Given the description of an element on the screen output the (x, y) to click on. 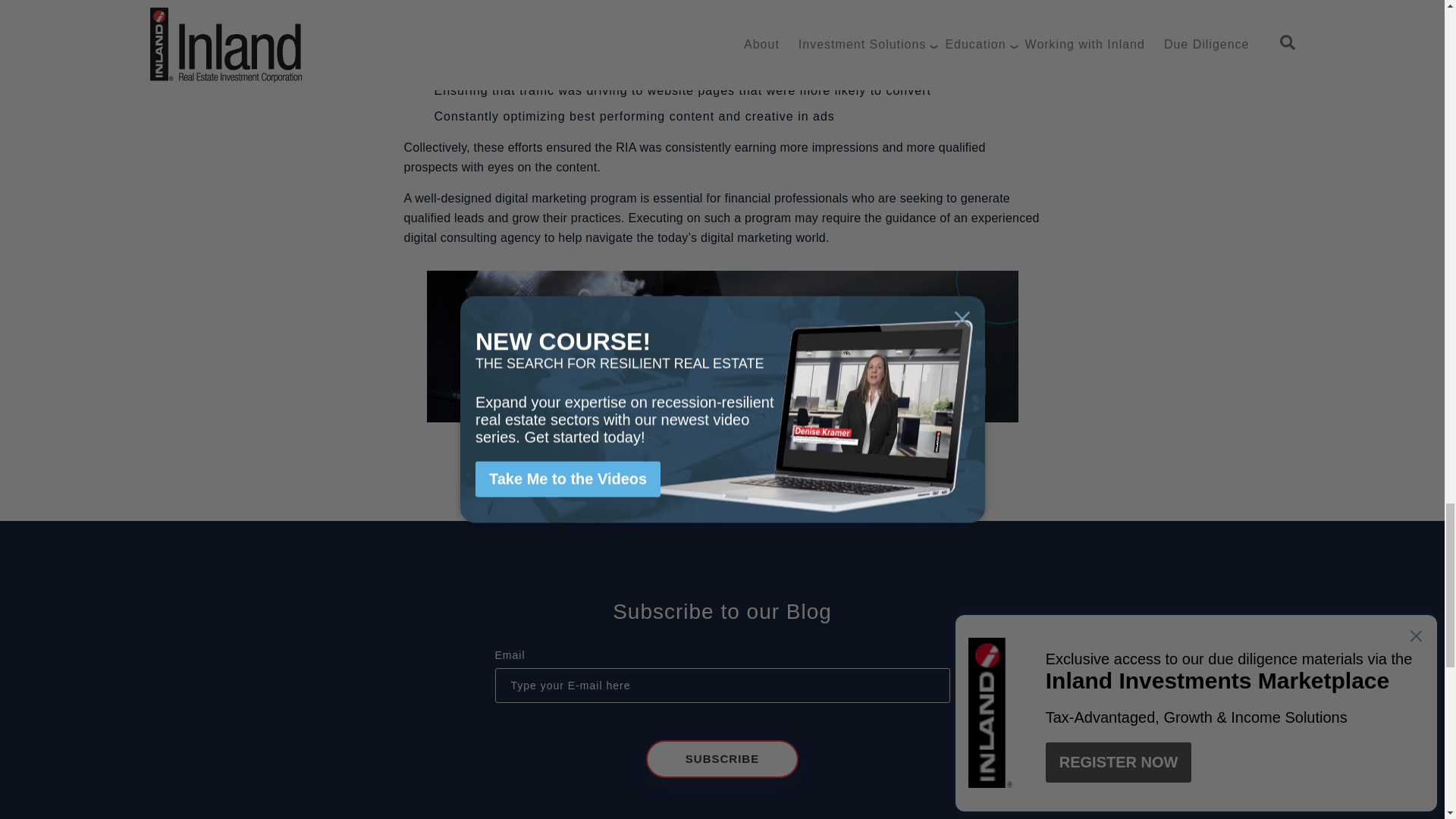
Subscribe (721, 759)
